Given the description of an element on the screen output the (x, y) to click on. 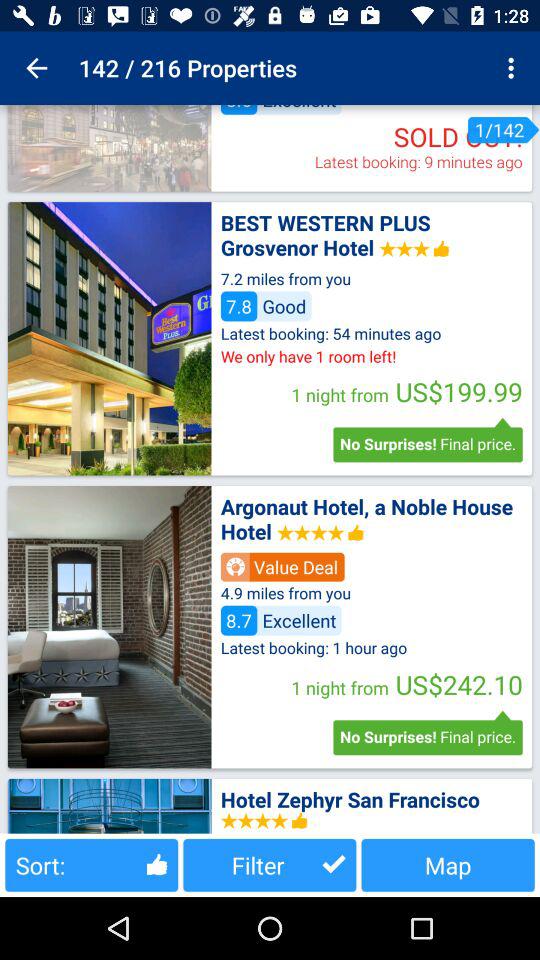
show image (109, 148)
